Given the description of an element on the screen output the (x, y) to click on. 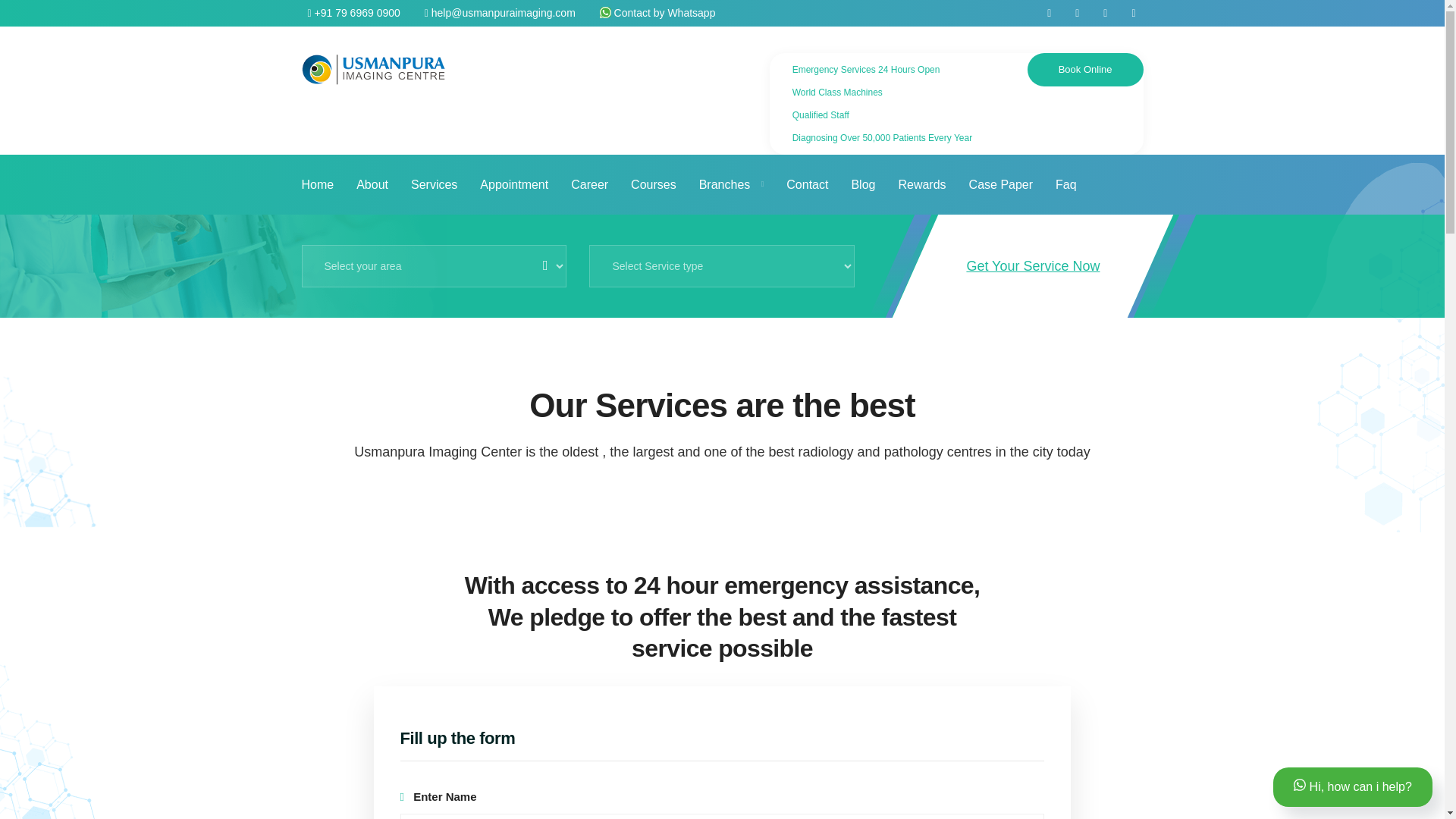
Career (589, 184)
Home (317, 184)
Branches (731, 184)
Book Online (1084, 69)
Contact by Whatsapp (657, 12)
Services (433, 184)
About (372, 184)
Courses (653, 184)
Contact (807, 184)
